Given the description of an element on the screen output the (x, y) to click on. 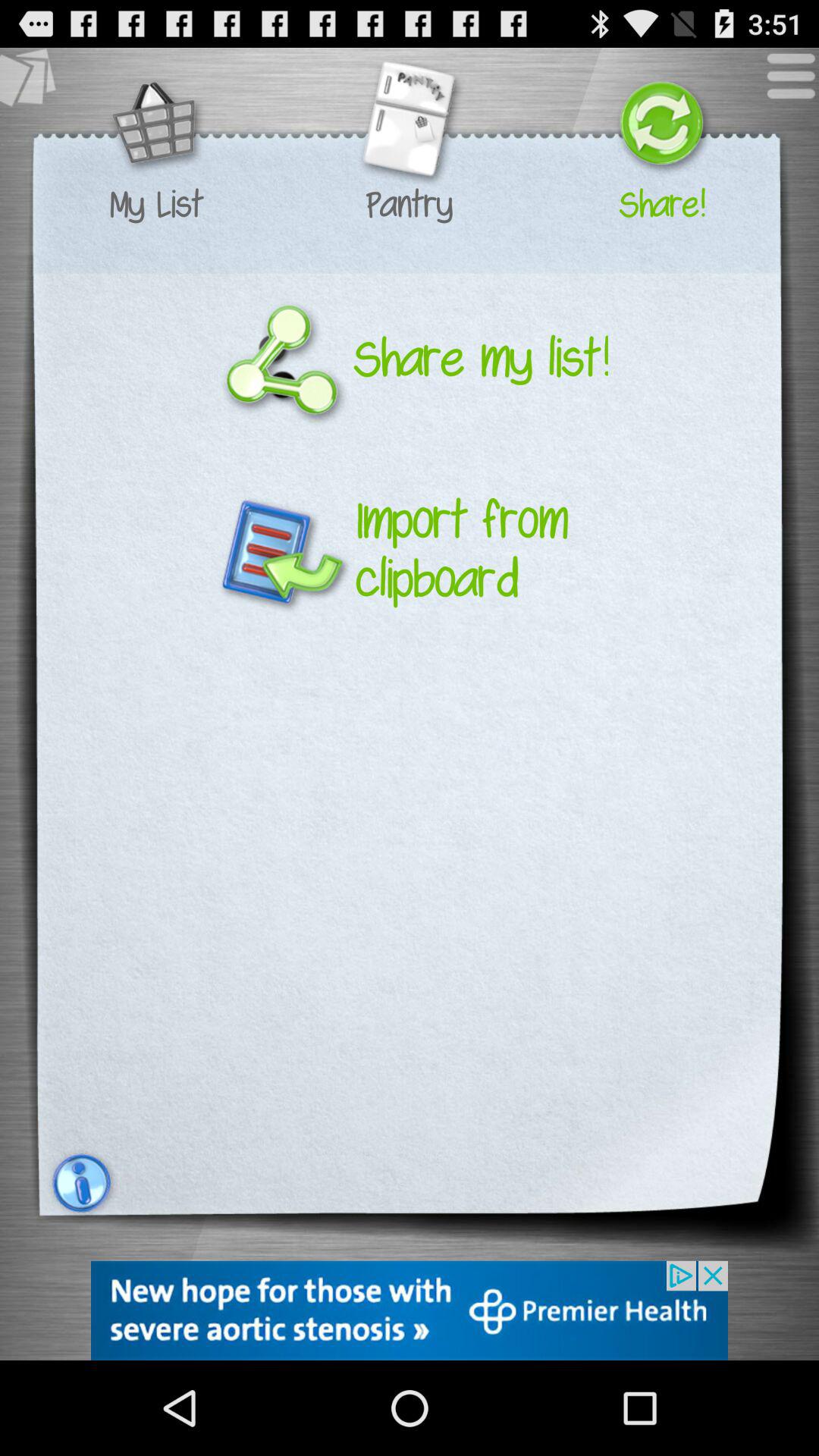
shows premier health option (409, 1310)
